Given the description of an element on the screen output the (x, y) to click on. 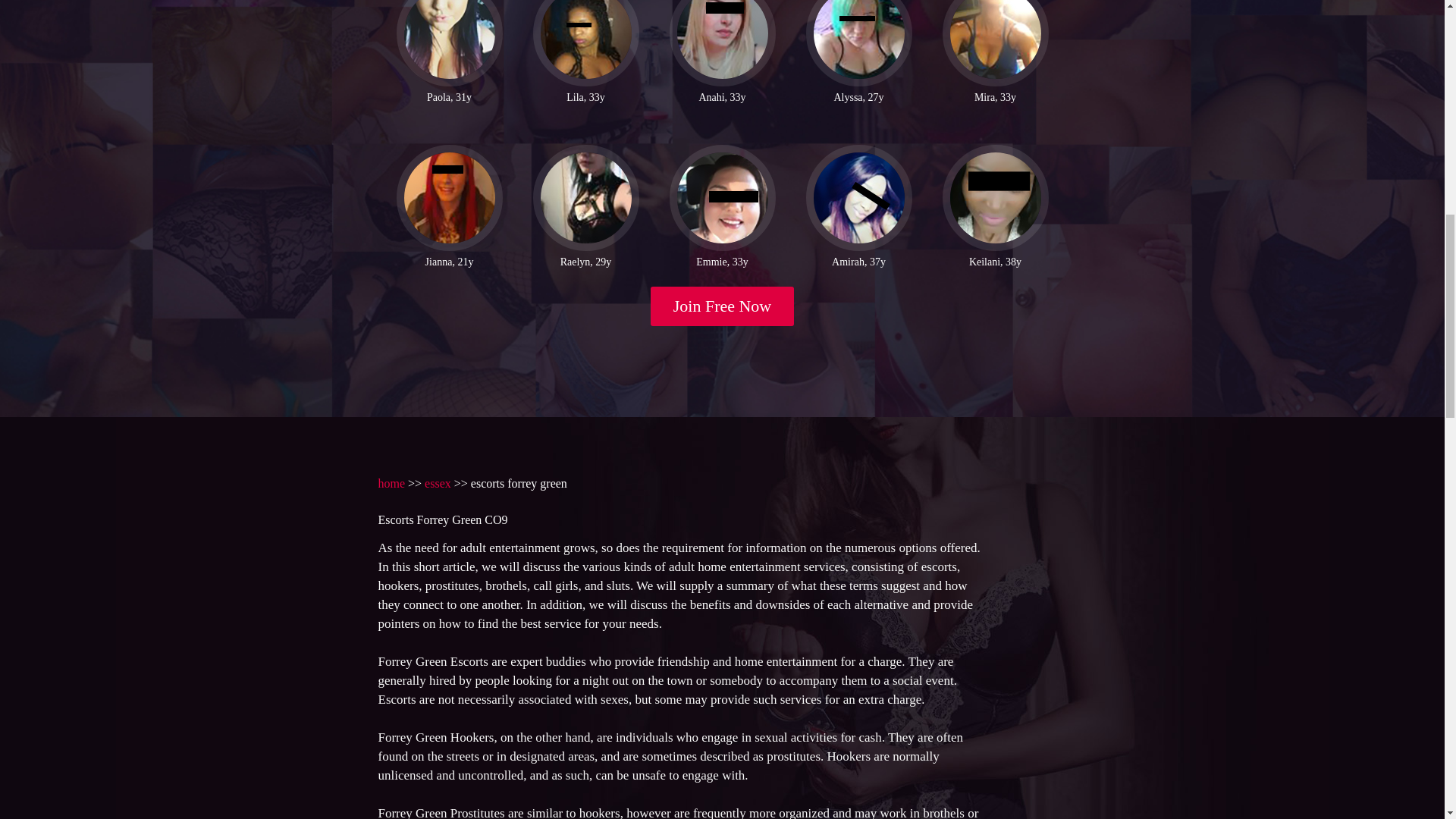
Join Free Now (722, 305)
Join (722, 305)
essex (438, 482)
home (390, 482)
